Given the description of an element on the screen output the (x, y) to click on. 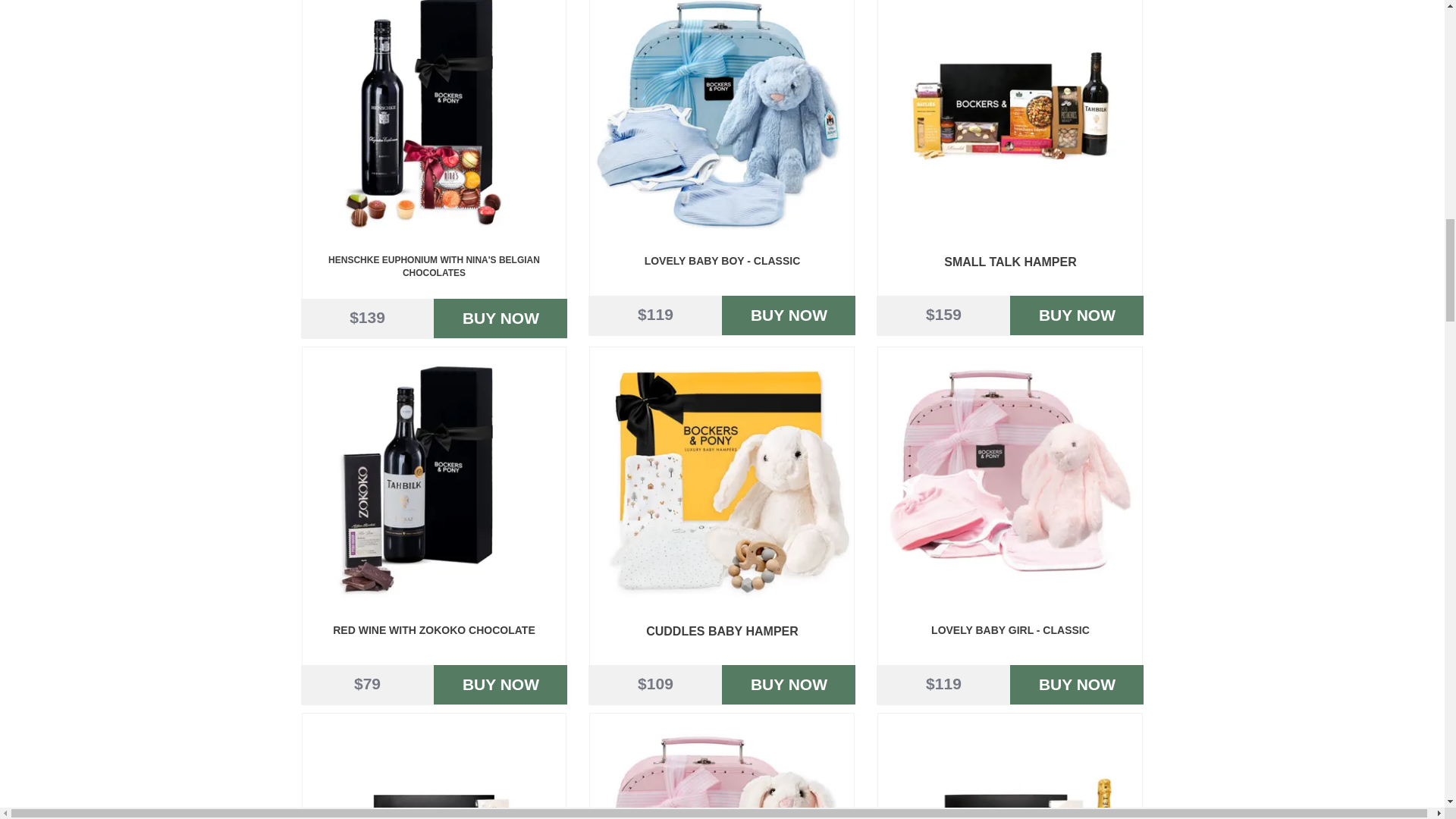
Cuddles Baby Hamper (721, 479)
Lovely Baby Girl - Classic (1009, 479)
Red Wine with Zokoko Chocolate (433, 479)
Henschke Euphonium with Nina's Belgian Chocolates (433, 119)
Lovely Baby Boy - Classic (721, 119)
Small Talk Hamper (1009, 119)
Treasure Chocolate Hamper (433, 767)
Pure Baby Bunny Girl - Classic (721, 767)
